Given the description of an element on the screen output the (x, y) to click on. 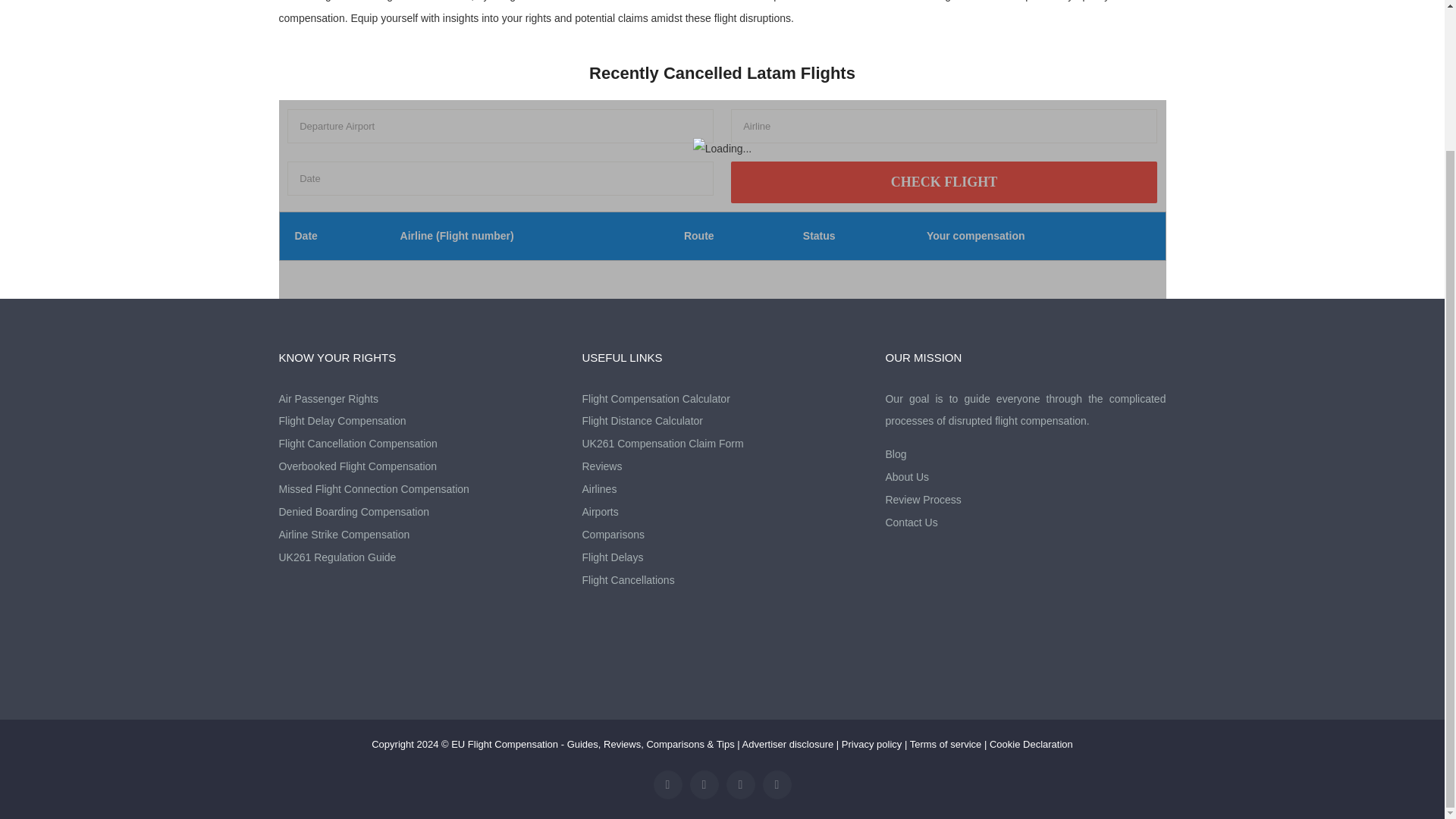
Facebook (667, 784)
YouTube (704, 784)
CHECK FLIGHT (943, 182)
Blogger (740, 784)
Missed Flight Connection Compensation (419, 489)
Pinterest (777, 784)
Flight Cancellation Compensation (419, 444)
Air Passenger Rights (419, 399)
Flight Delay Compensation (419, 421)
Overbooked Flight Compensation (419, 466)
